Given the description of an element on the screen output the (x, y) to click on. 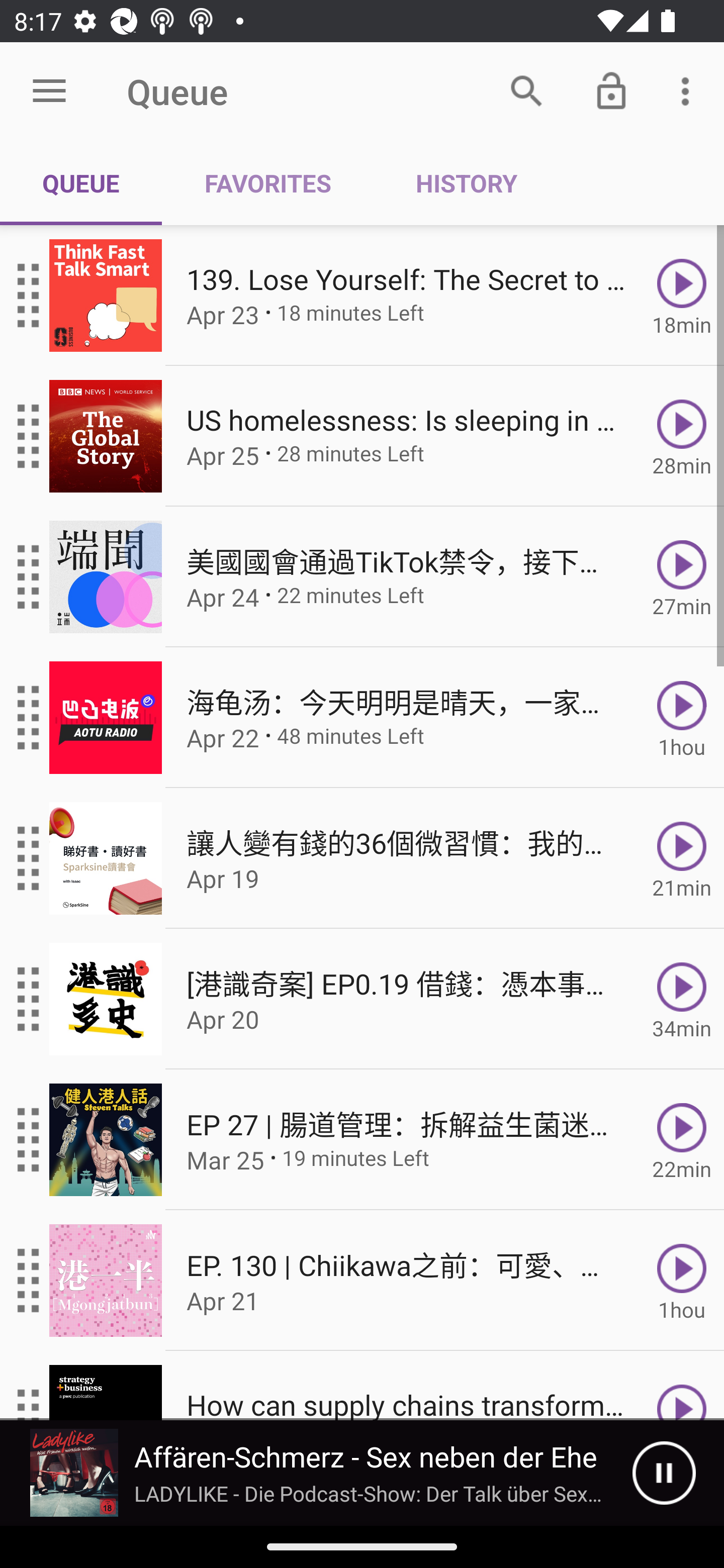
Open menu (49, 91)
Search (526, 90)
Lock Queue (611, 90)
More options (688, 90)
QUEUE (81, 183)
FAVORITES (267, 183)
HISTORY (465, 183)
Play 18min (681, 295)
Play 28min (681, 435)
Play 27min (681, 576)
Play 1hou (681, 717)
Play 21min (681, 858)
Play 34min (681, 998)
Play 22min (681, 1139)
Play 1hou (681, 1280)
Play (681, 1385)
Pause (663, 1472)
